Given the description of an element on the screen output the (x, y) to click on. 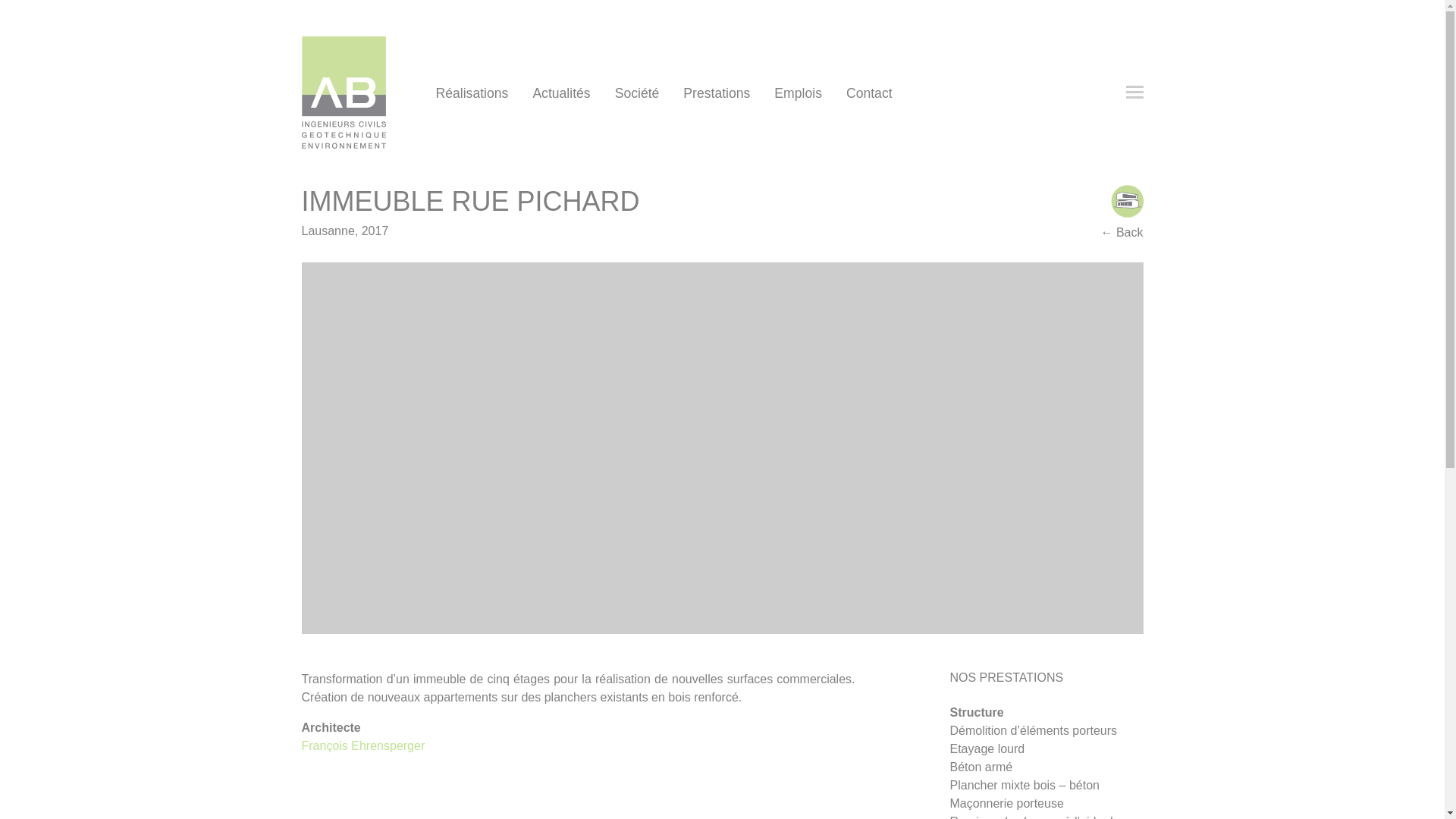
Prestations Element type: text (716, 93)
Emplois Element type: text (798, 93)
Contact Element type: text (869, 93)
